Given the description of an element on the screen output the (x, y) to click on. 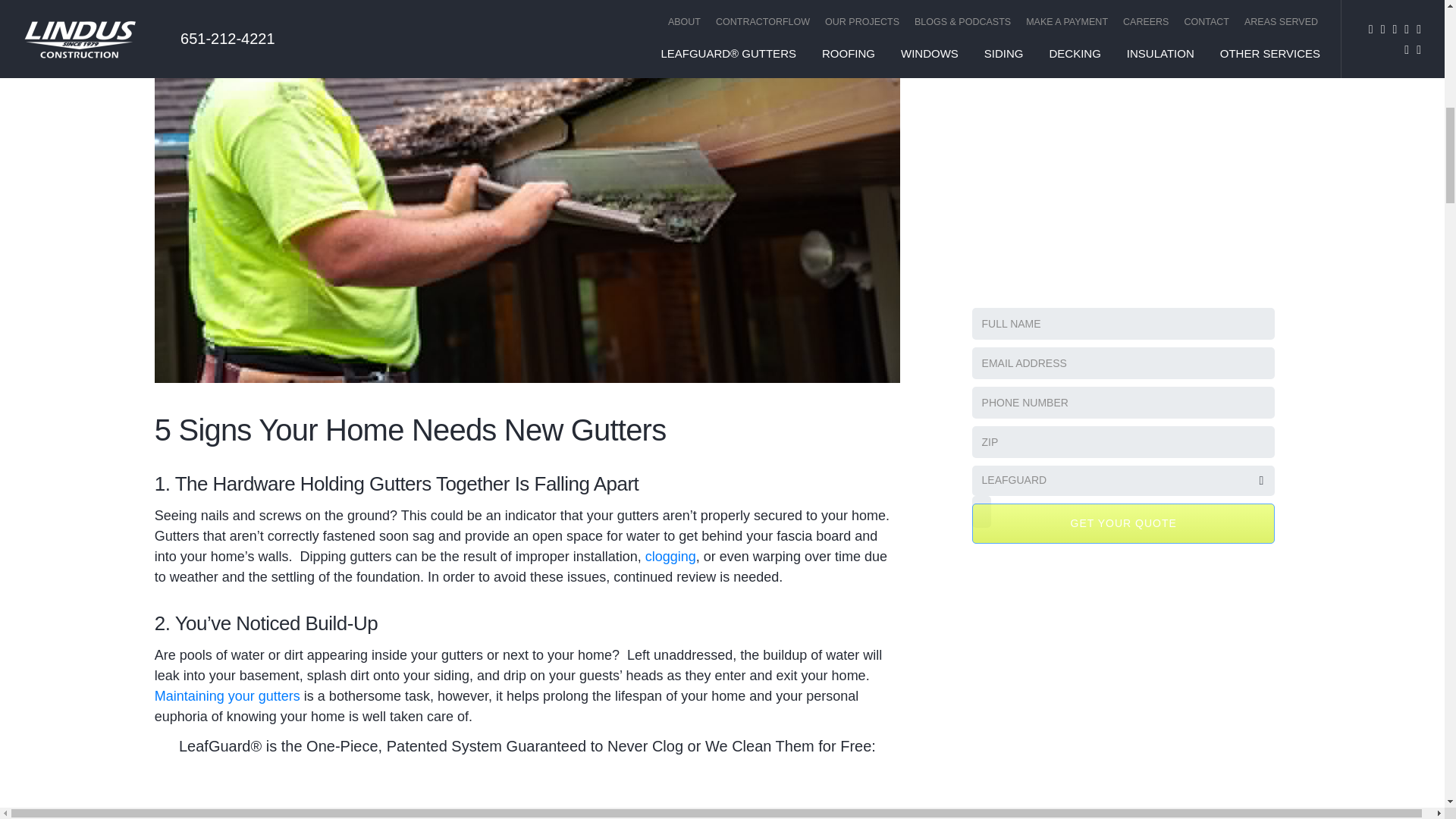
Get Your Quote (1123, 73)
